Given the description of an element on the screen output the (x, y) to click on. 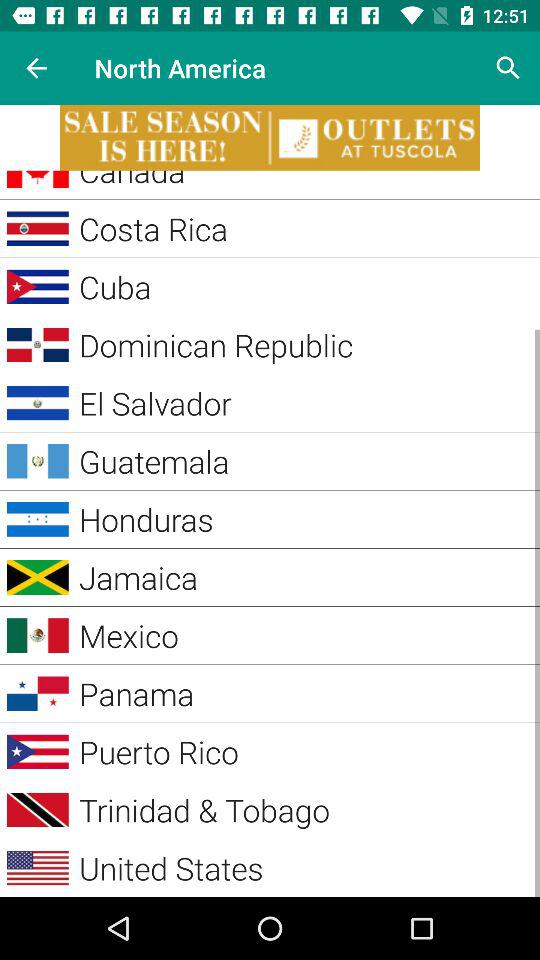
select the image on left to the button el salvador on the web page (37, 403)
click on the symbol beside united states (37, 867)
click on the symbol beside dominican republic (37, 344)
select the image on left to the button trinidadtobago on the web page (37, 810)
select the image on left to the button cuba on the web page (37, 286)
